Given the description of an element on the screen output the (x, y) to click on. 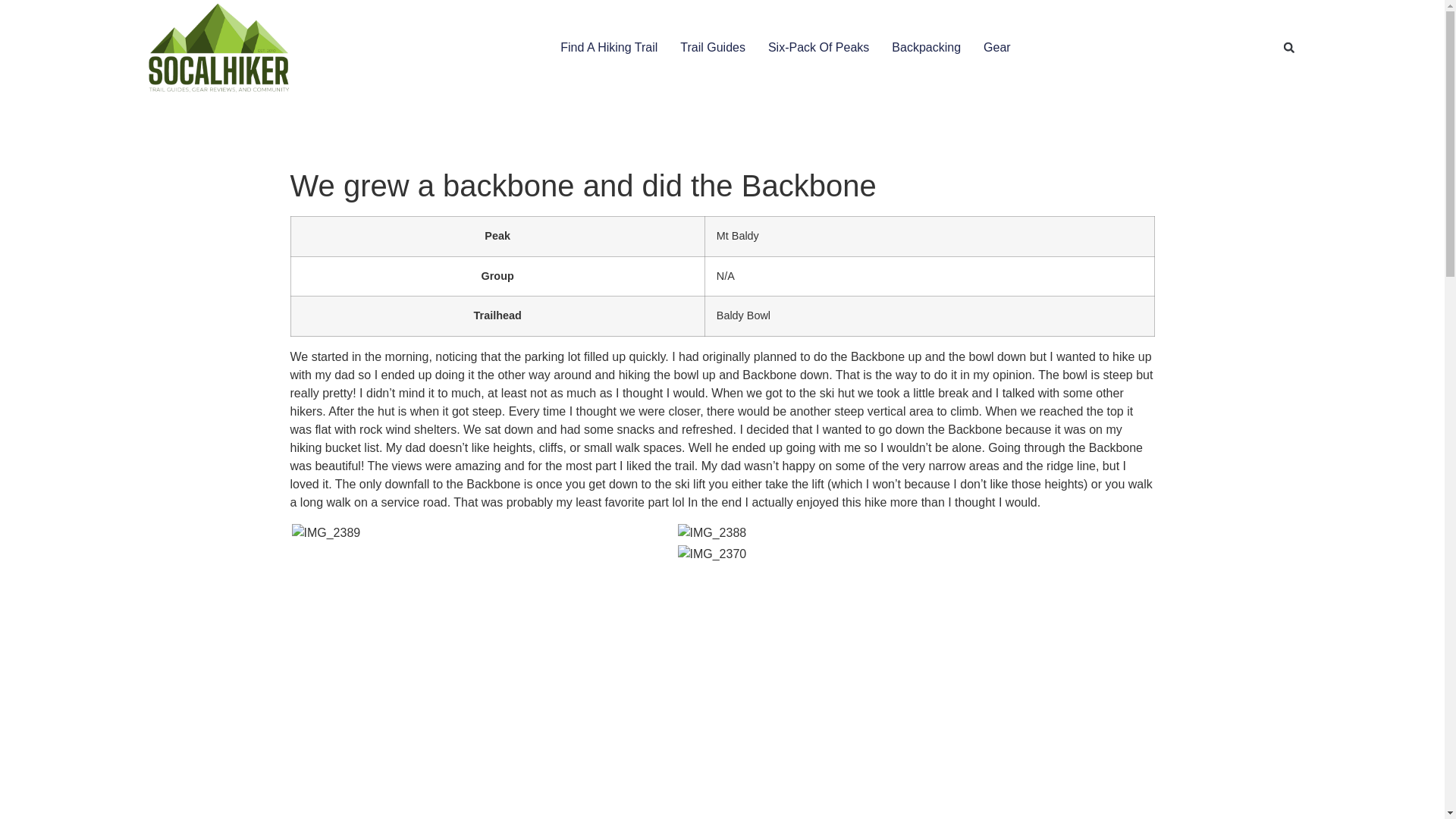
Six-Pack Of Peaks (818, 47)
Find A Hiking Trail (609, 47)
Trail Guides (712, 47)
